Given the description of an element on the screen output the (x, y) to click on. 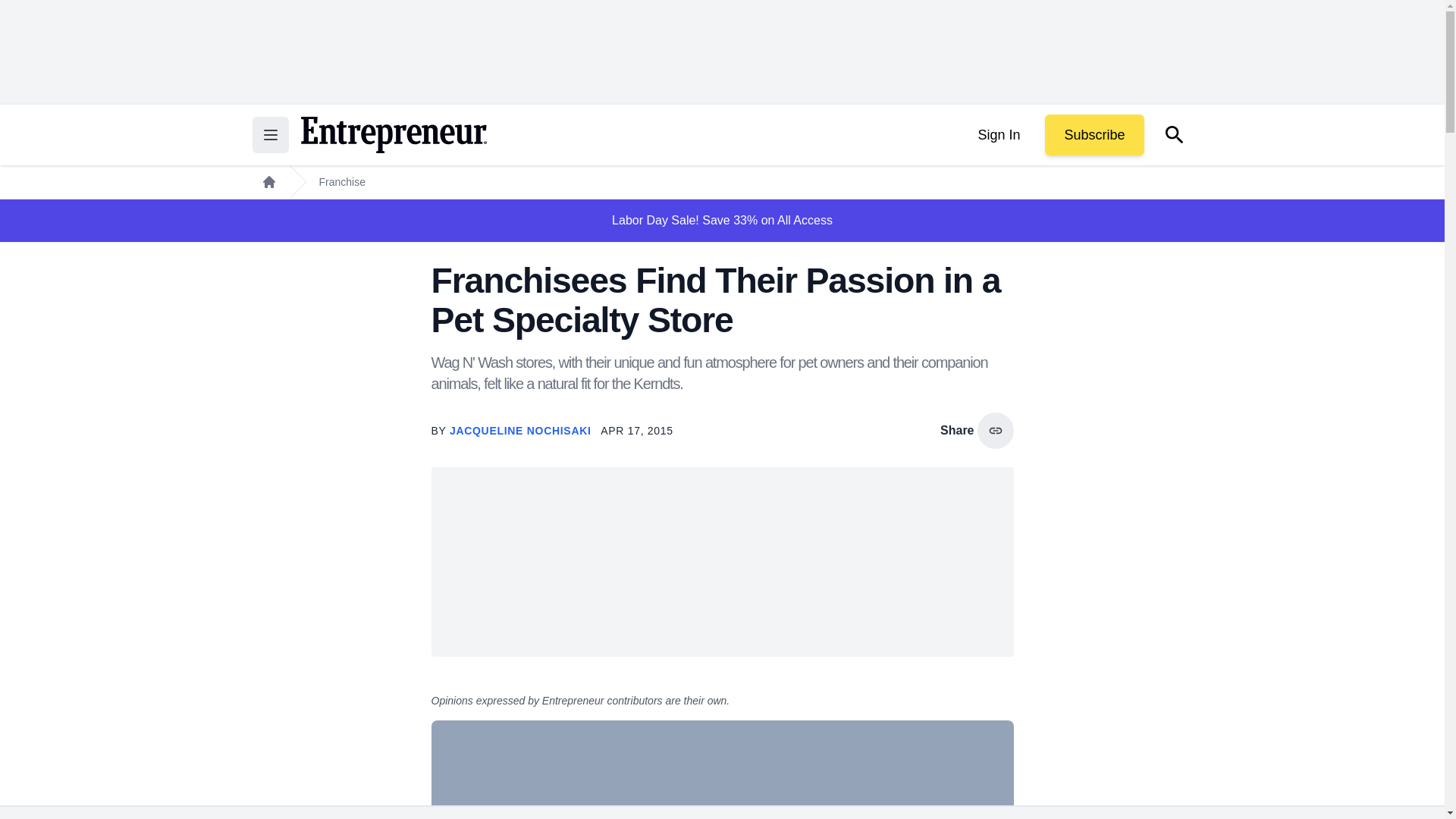
Subscribe (1093, 134)
copy (994, 430)
Sign In (998, 134)
Return to the home page (392, 135)
